Given the description of an element on the screen output the (x, y) to click on. 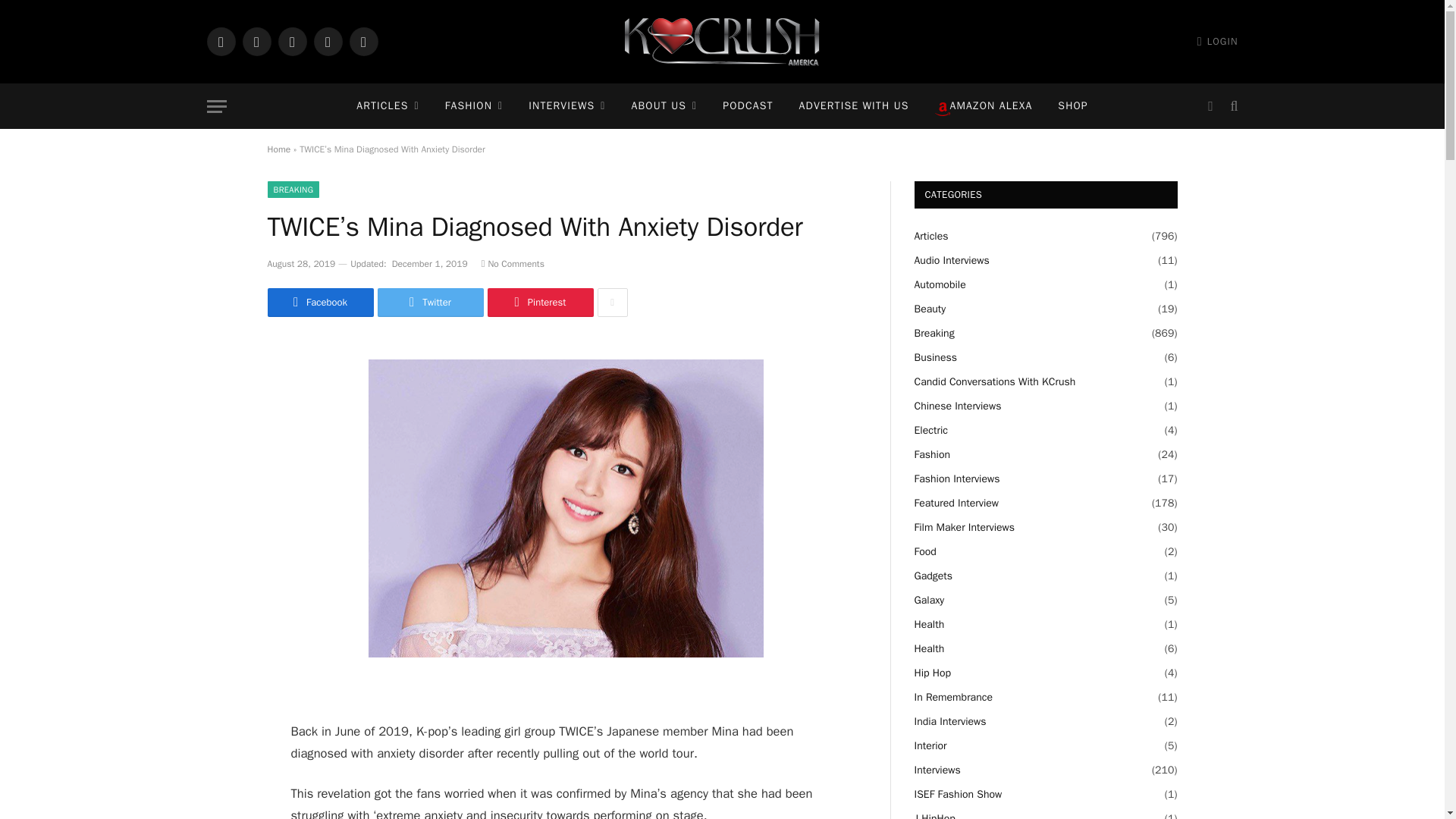
K Crush America Magazine (722, 41)
Share on Facebook (319, 302)
Share on Pinterest (539, 302)
Switch to Dark Design - easier on eyes. (1209, 106)
